Given the description of an element on the screen output the (x, y) to click on. 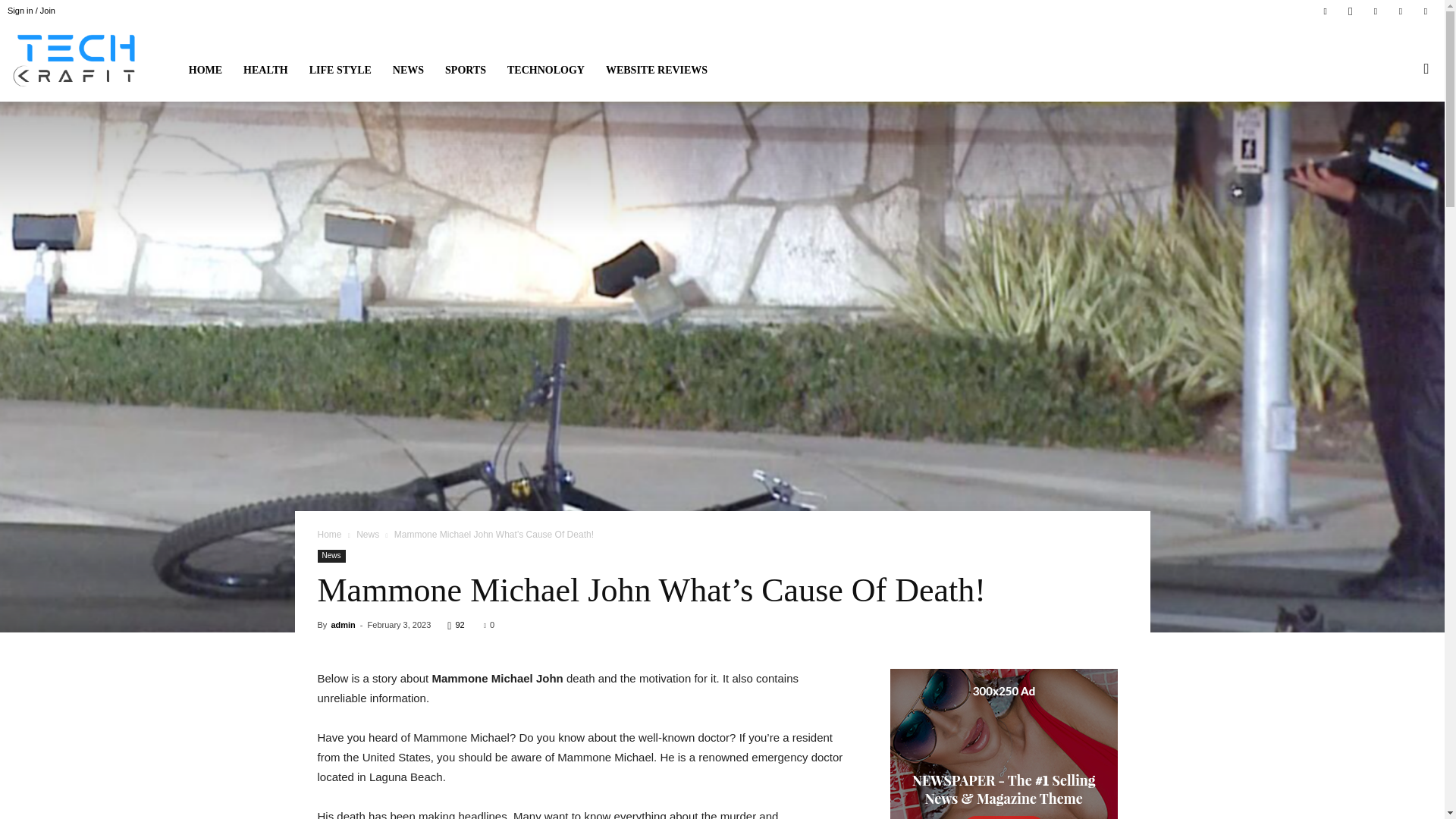
Vimeo (1400, 10)
HOME (204, 69)
HEALTH (265, 69)
Youtube (1425, 10)
Twitter (1375, 10)
LIFE STYLE (339, 69)
TECHNOLOGY (545, 69)
Facebook (1325, 10)
Instagram (1350, 10)
Tech Krafit (77, 61)
SPORTS (464, 69)
WEBSITE REVIEWS (656, 69)
View all posts in News (367, 534)
